Given the description of an element on the screen output the (x, y) to click on. 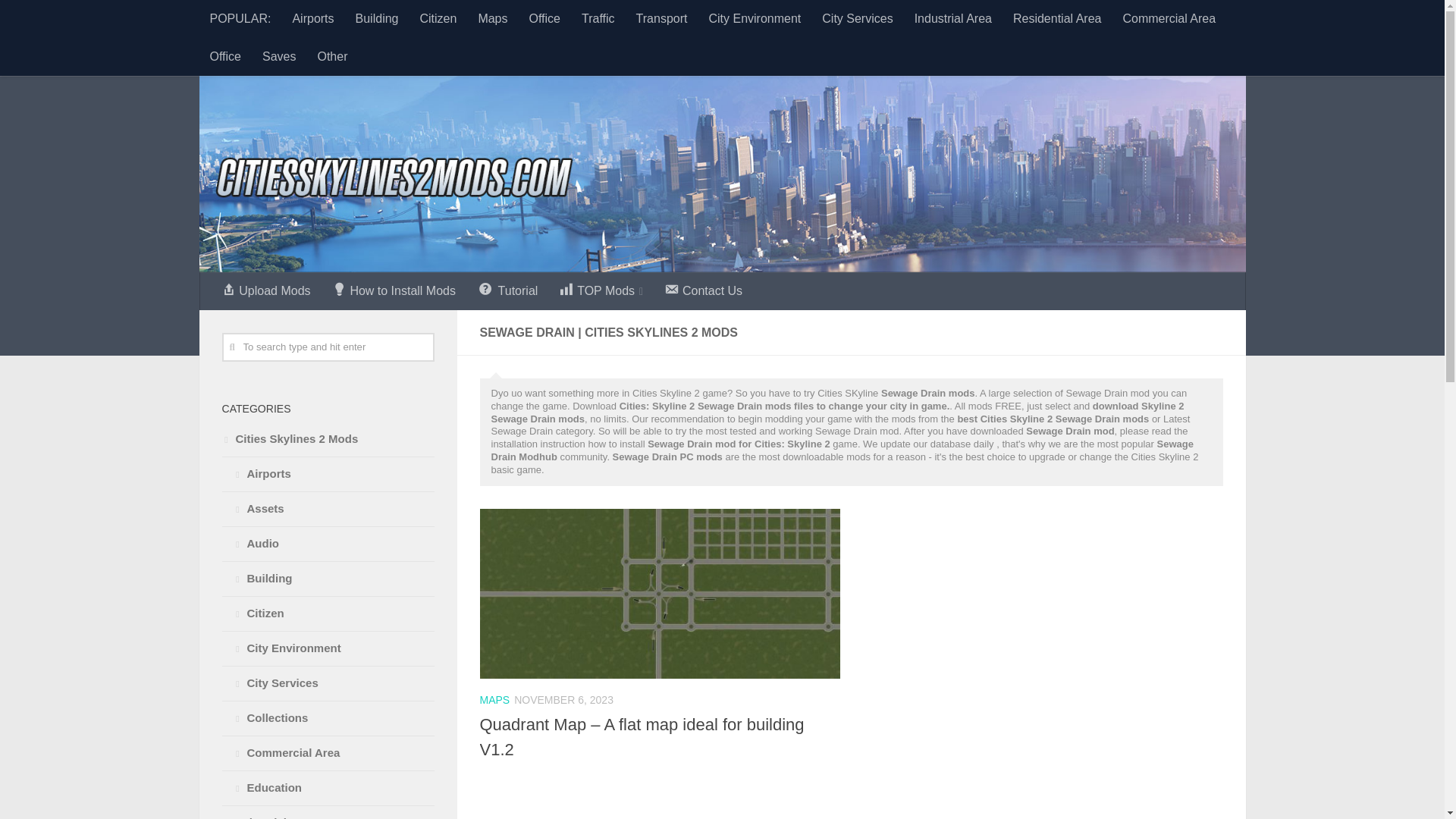
Tutorial (506, 290)
To search type and hit enter (327, 346)
Other (331, 56)
Maps (492, 18)
How to Install Mods (393, 290)
POPULAR: (239, 18)
Airports (312, 18)
Transport (662, 18)
Citizen (438, 18)
Industrial Area (953, 18)
City Services (856, 18)
Office (545, 18)
Commercial Area (1168, 18)
Saves (278, 56)
Office (224, 56)
